Given the description of an element on the screen output the (x, y) to click on. 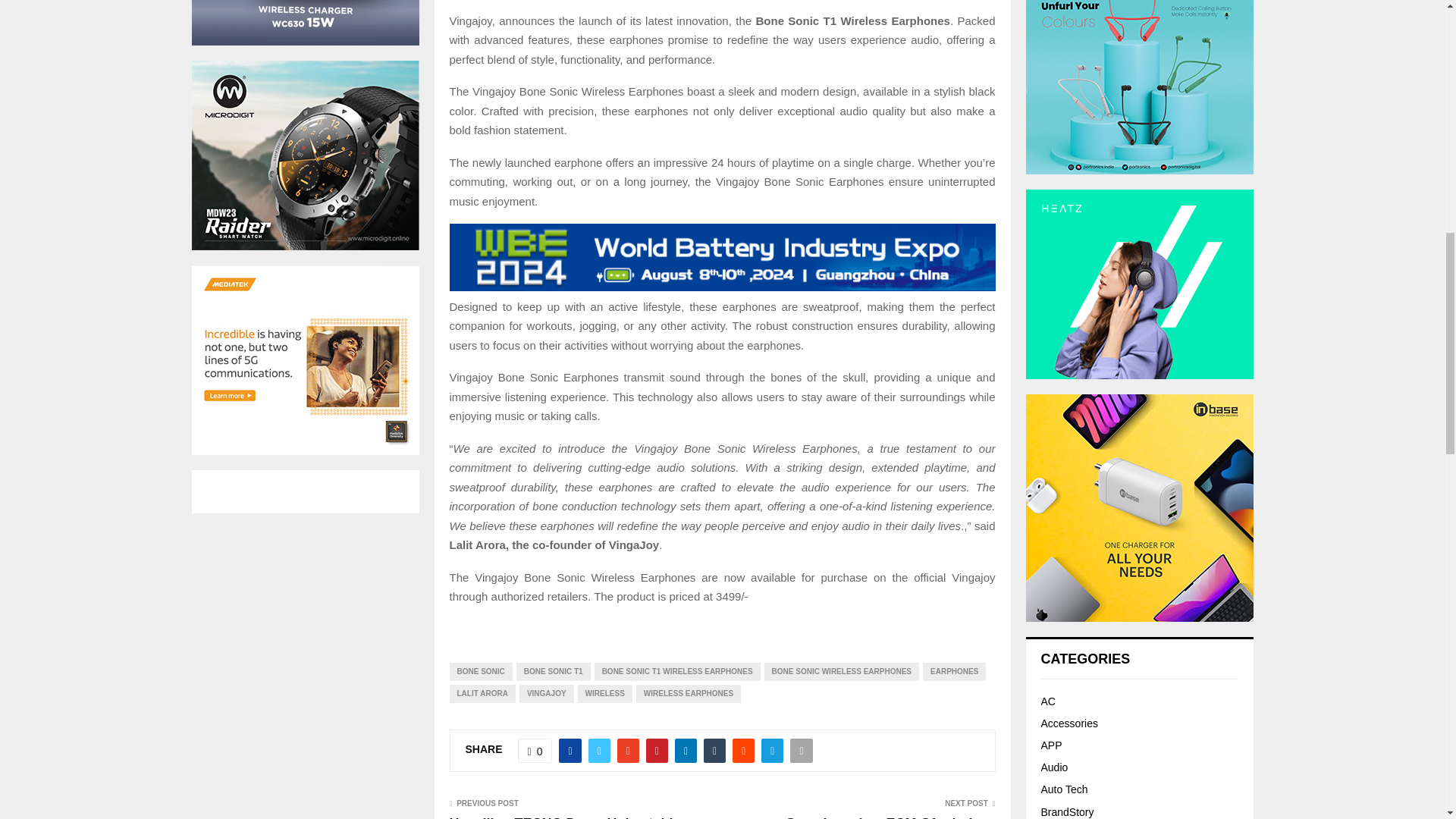
Like (535, 750)
